Given the description of an element on the screen output the (x, y) to click on. 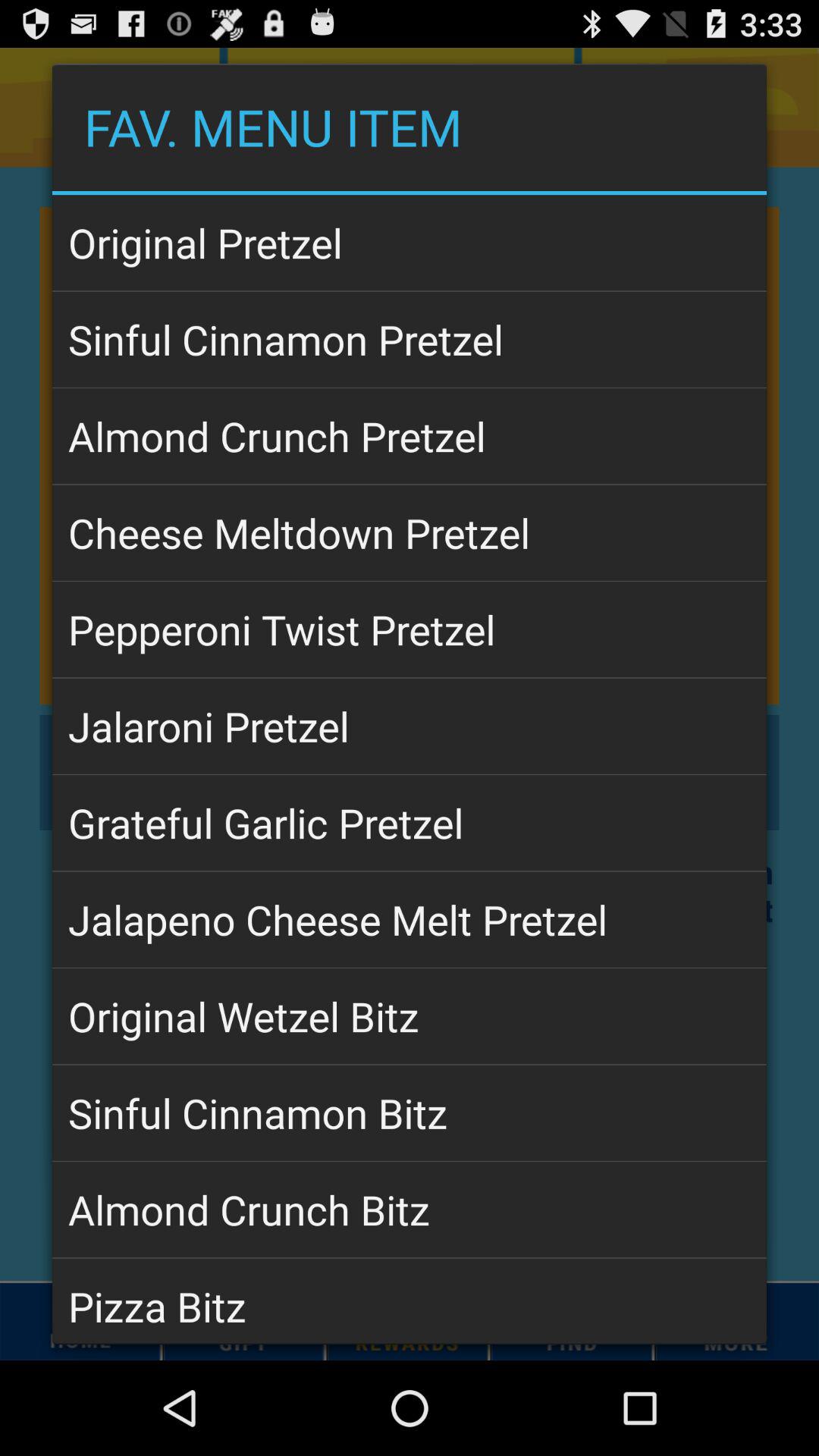
launch the icon below pepperoni twist pretzel icon (409, 726)
